Given the description of an element on the screen output the (x, y) to click on. 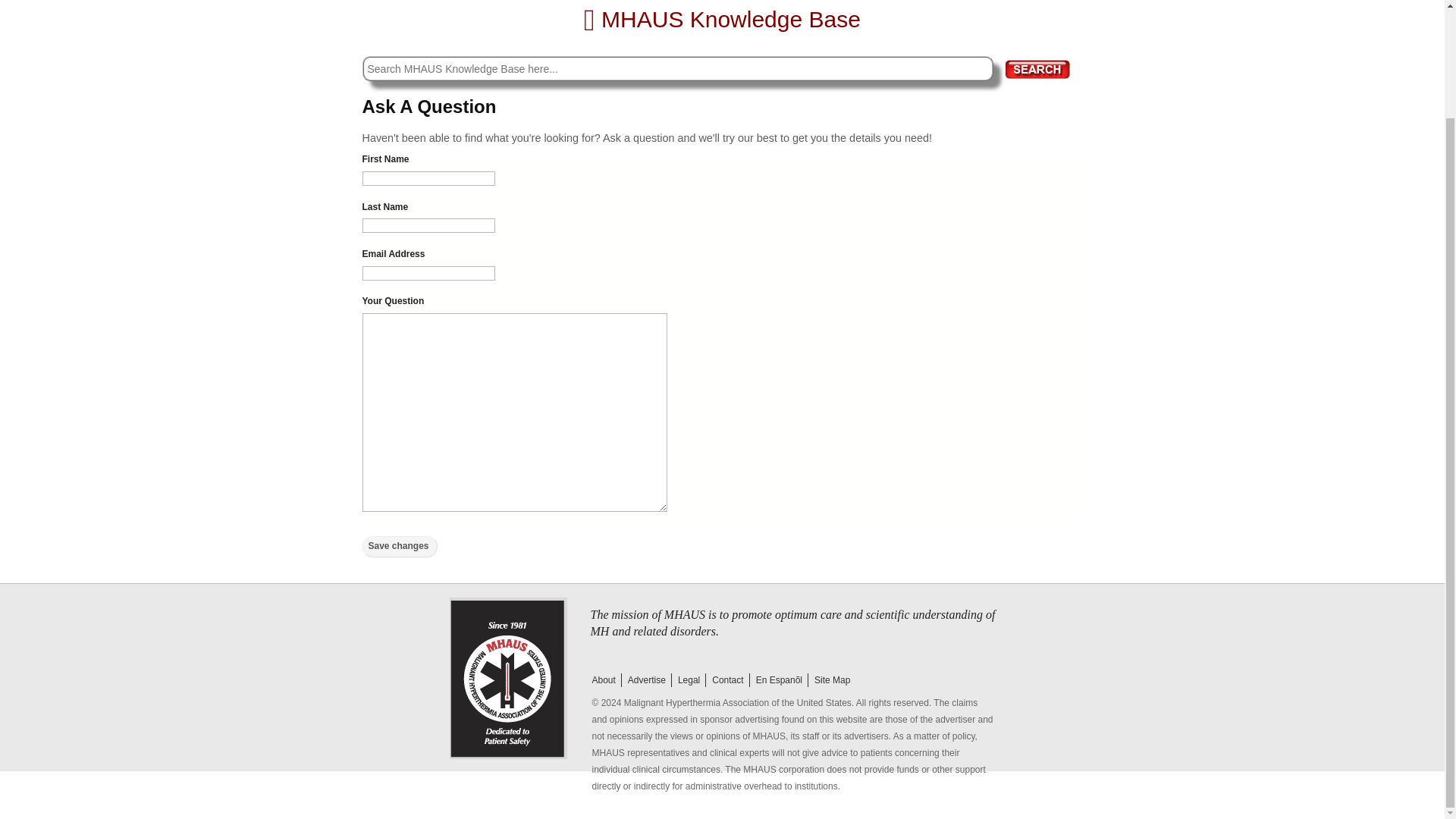
Save changes (400, 546)
Advertise (646, 680)
MHAUS Knowledge Base (721, 18)
Save changes (400, 546)
Site Map (832, 680)
Contact (727, 680)
Legal (687, 680)
About (602, 680)
doSearch (1038, 68)
